Given the description of an element on the screen output the (x, y) to click on. 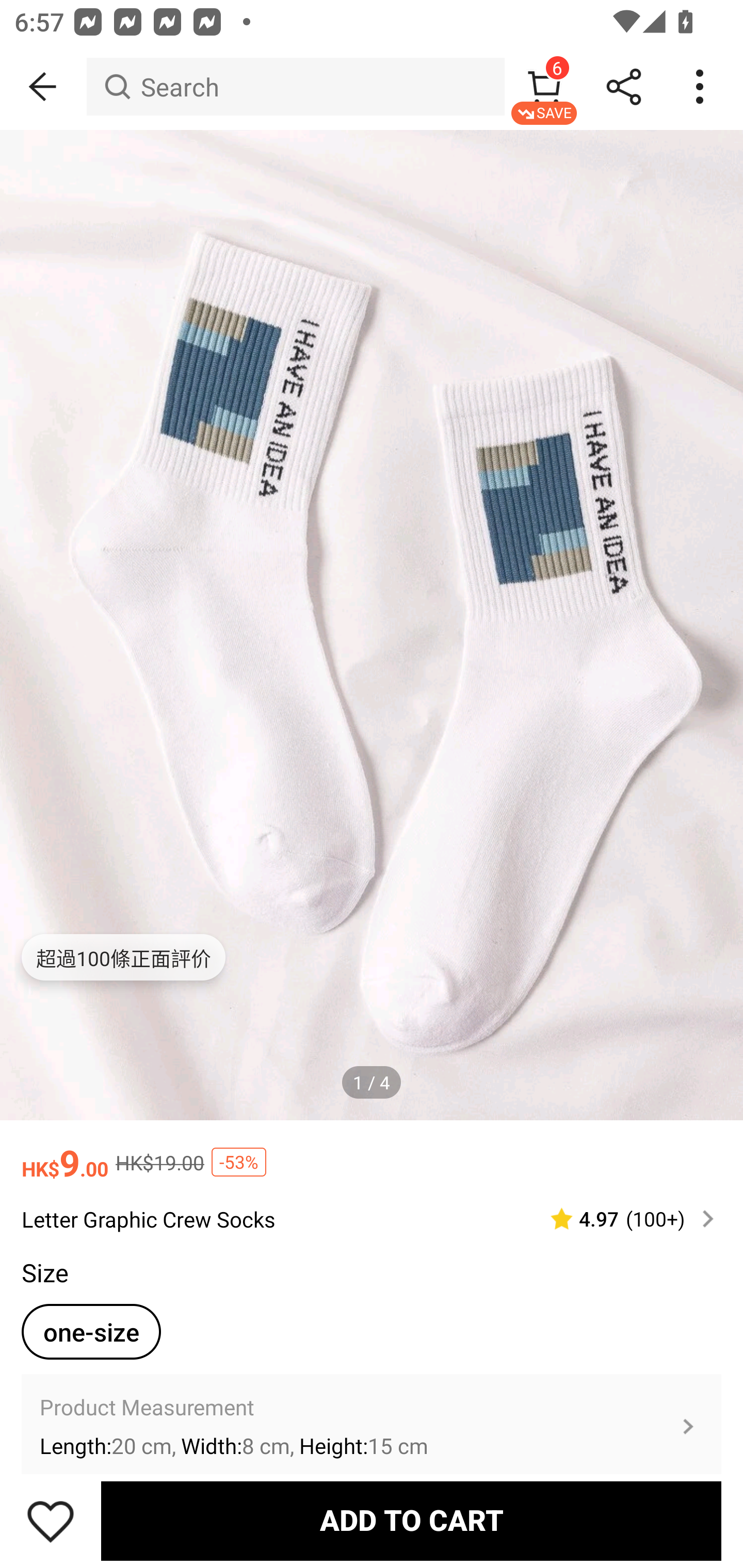
BACK (43, 86)
6 SAVE (543, 87)
Search (295, 87)
1 / 4 (371, 1082)
HK$9.00 HK$19.00 -53% (371, 1152)
4.97 (100‎+) (623, 1219)
Size (44, 1271)
one-size one-sizeselected option (91, 1331)
ADD TO CART (411, 1520)
Save (50, 1520)
